Given the description of an element on the screen output the (x, y) to click on. 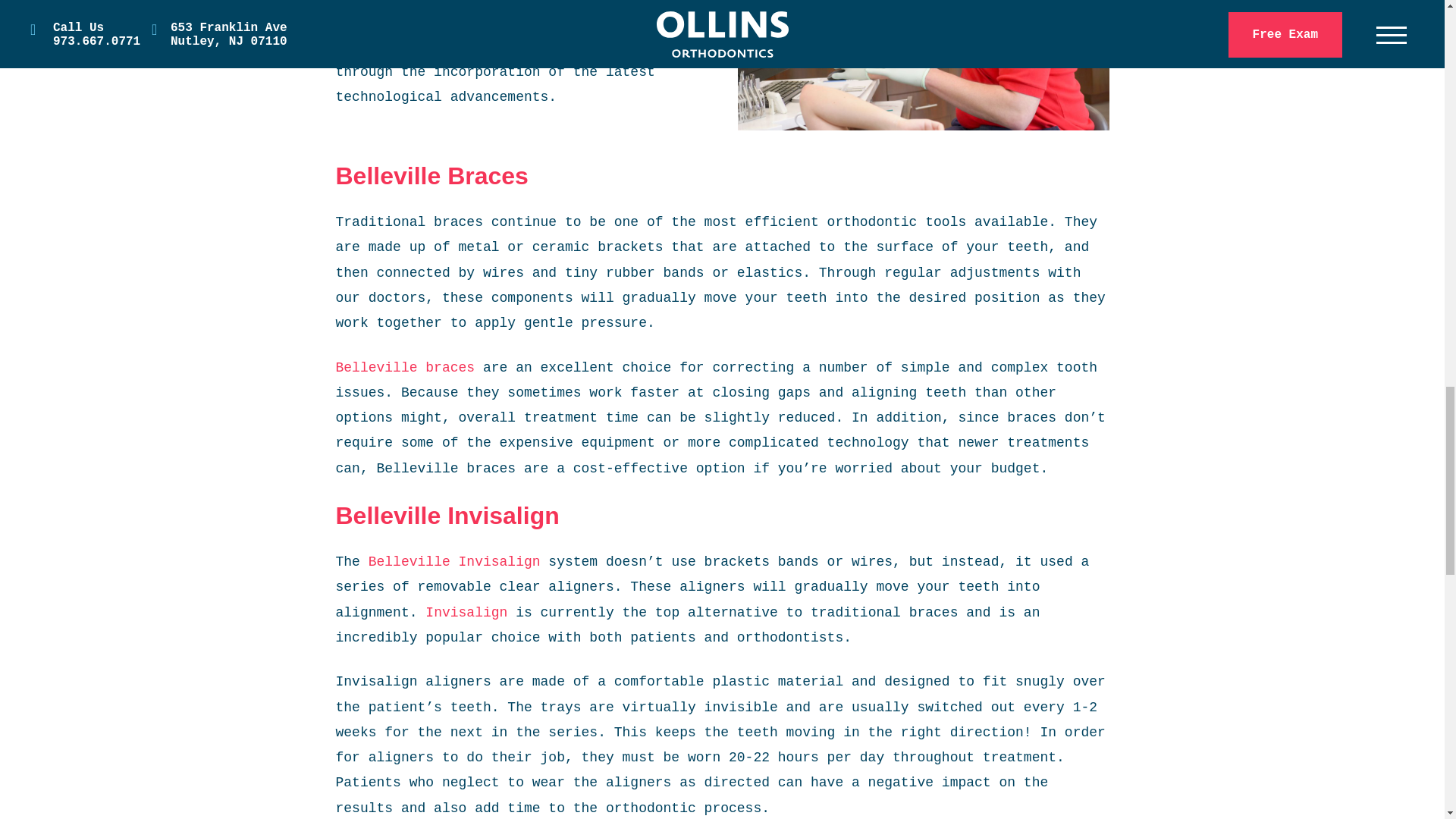
Ollins 2-2 (922, 65)
